Given the description of an element on the screen output the (x, y) to click on. 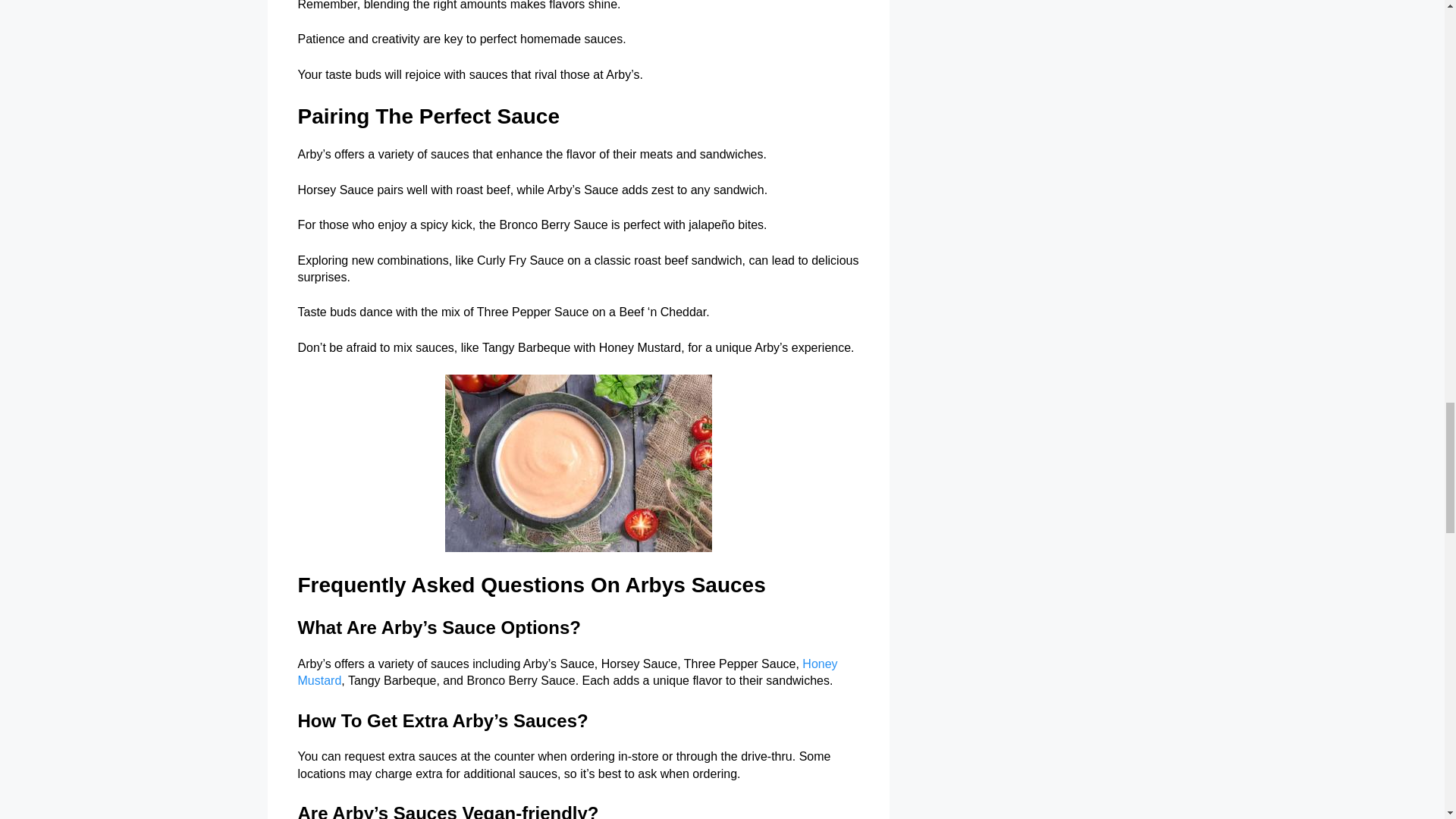
Honey Mustard (567, 672)
